Given the description of an element on the screen output the (x, y) to click on. 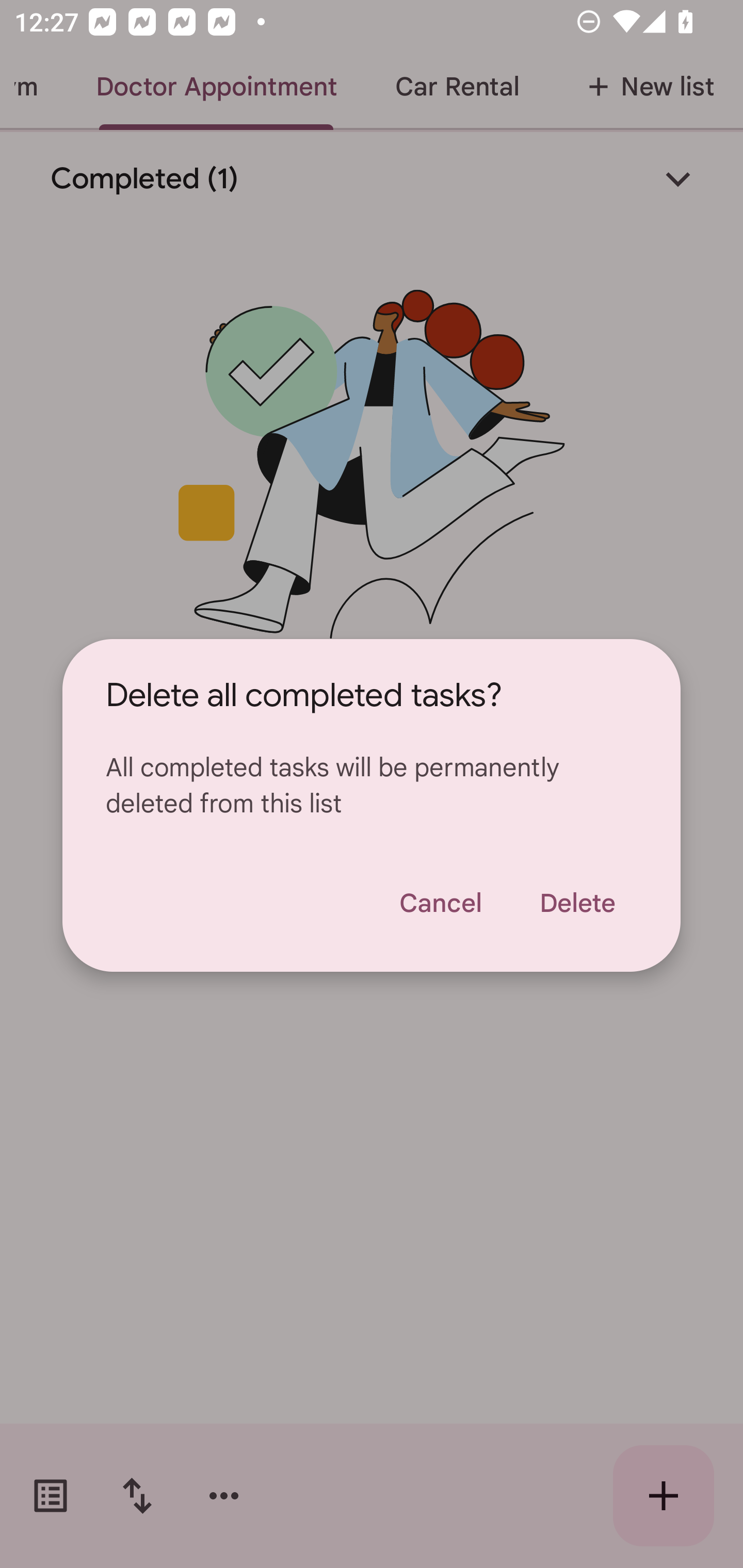
Cancel (440, 903)
Delete (577, 903)
